Given the description of an element on the screen output the (x, y) to click on. 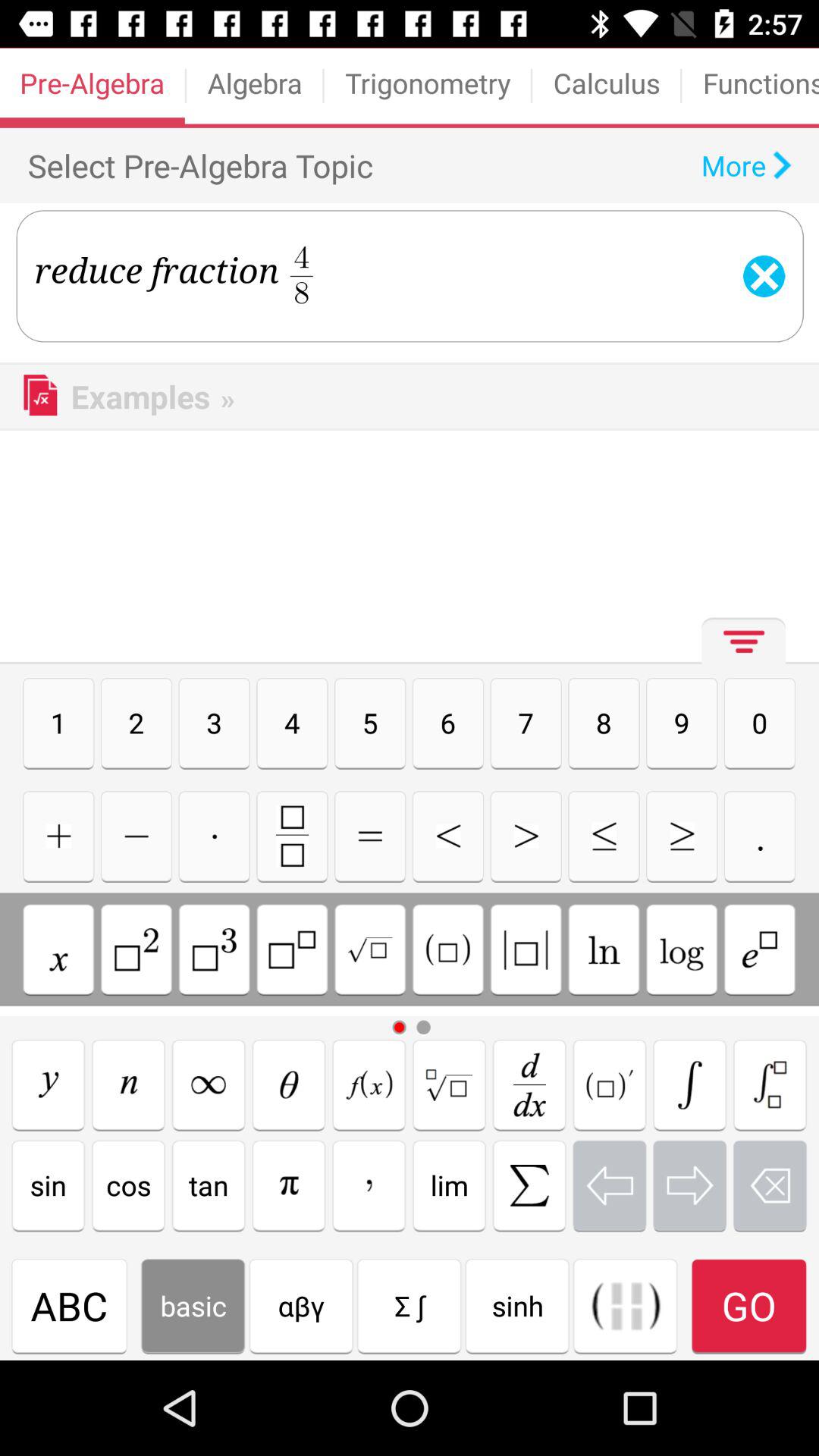
addition icon (58, 835)
